Given the description of an element on the screen output the (x, y) to click on. 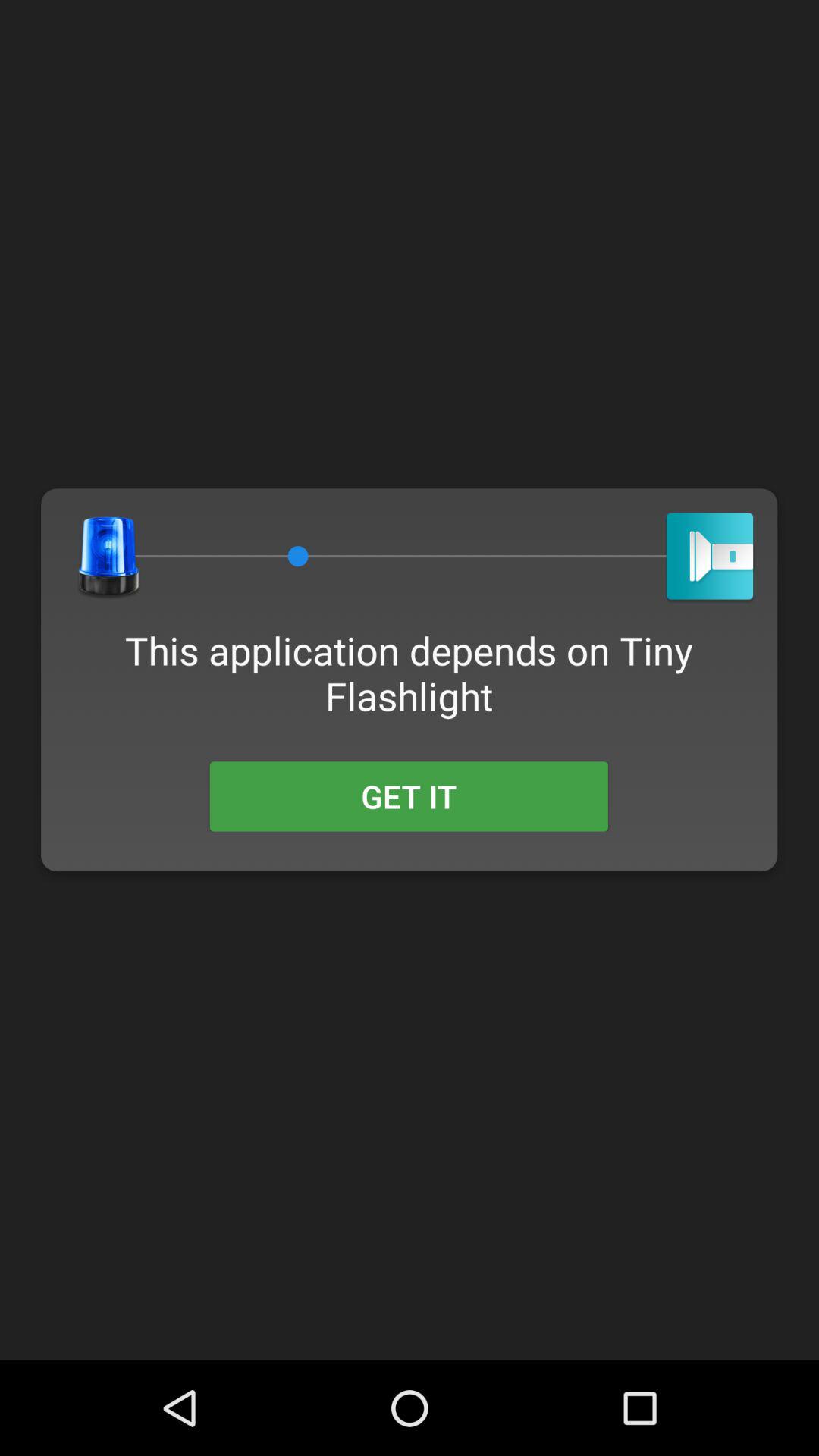
turn on the icon below the this application depends app (408, 796)
